Given the description of an element on the screen output the (x, y) to click on. 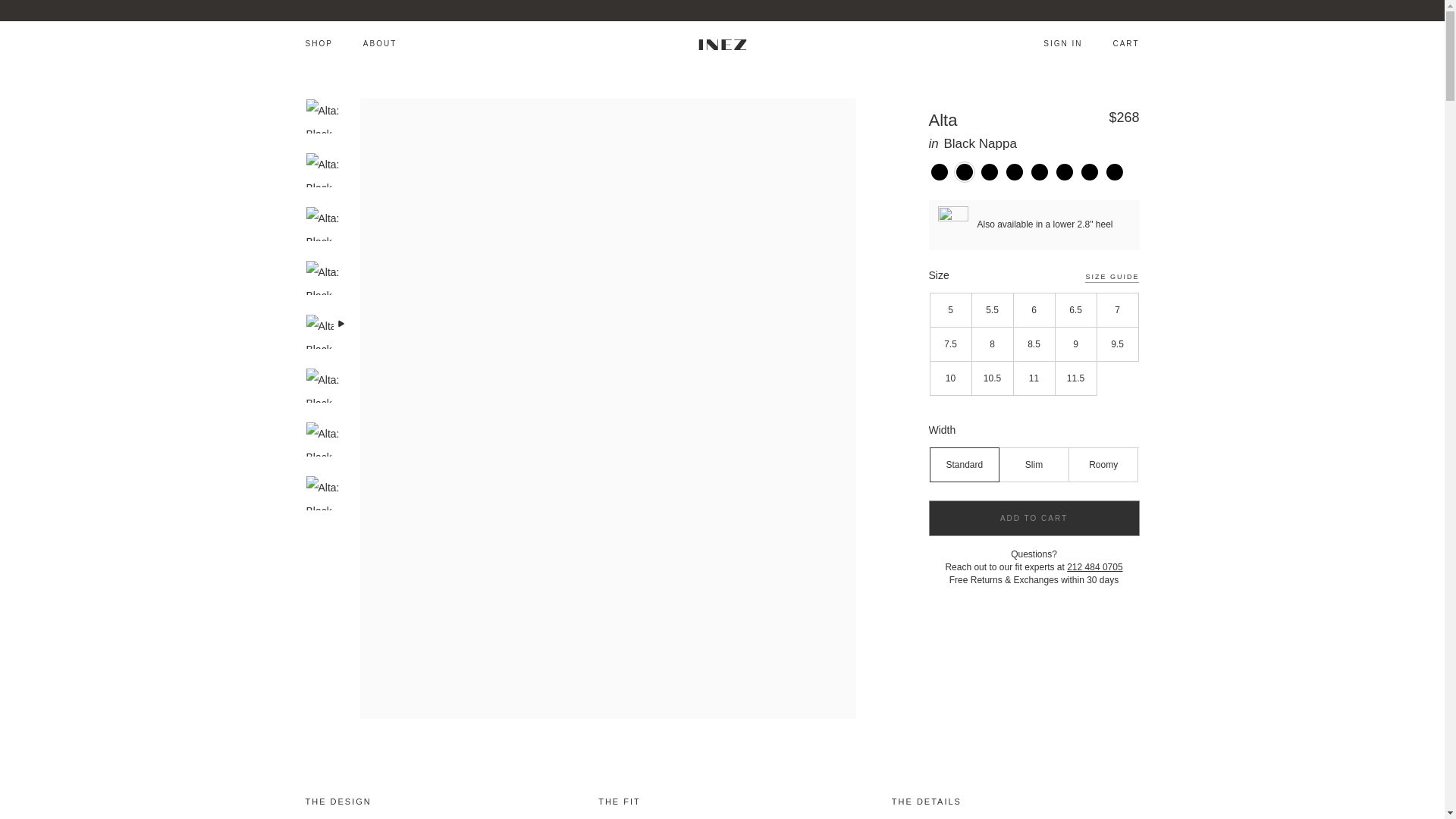
Natural Snake Emboss (989, 171)
Black Suede (1039, 171)
Deep Red Suede (1014, 171)
ABOUT (379, 43)
SIGN IN (1062, 43)
Silver Metallic (1063, 171)
Black Patent (1113, 171)
Tan Patent (1089, 171)
Almond Nappa (939, 171)
Black Nappa (963, 171)
